Given the description of an element on the screen output the (x, y) to click on. 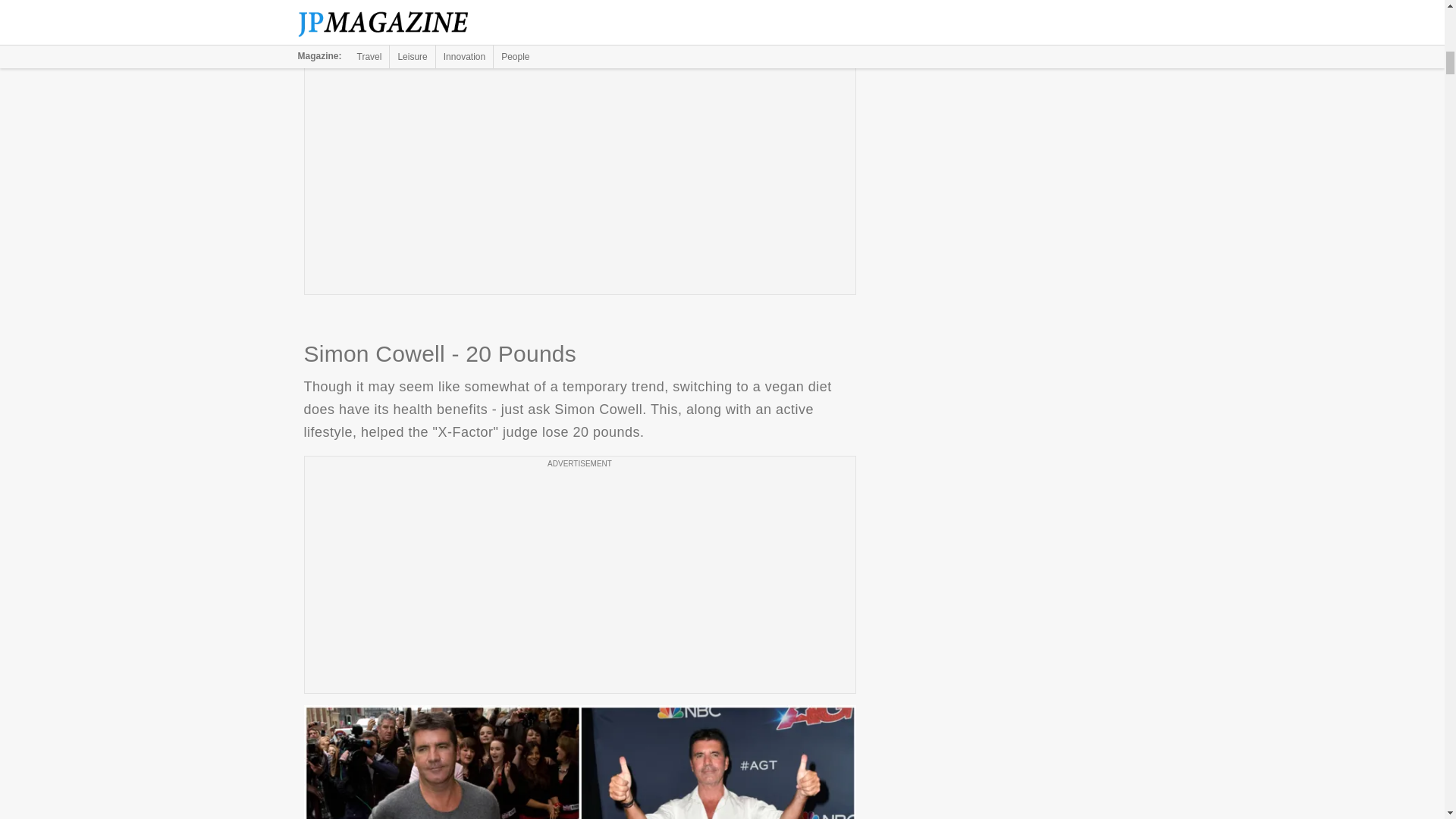
Simon Cowell - 20 Pounds (579, 762)
